Given the description of an element on the screen output the (x, y) to click on. 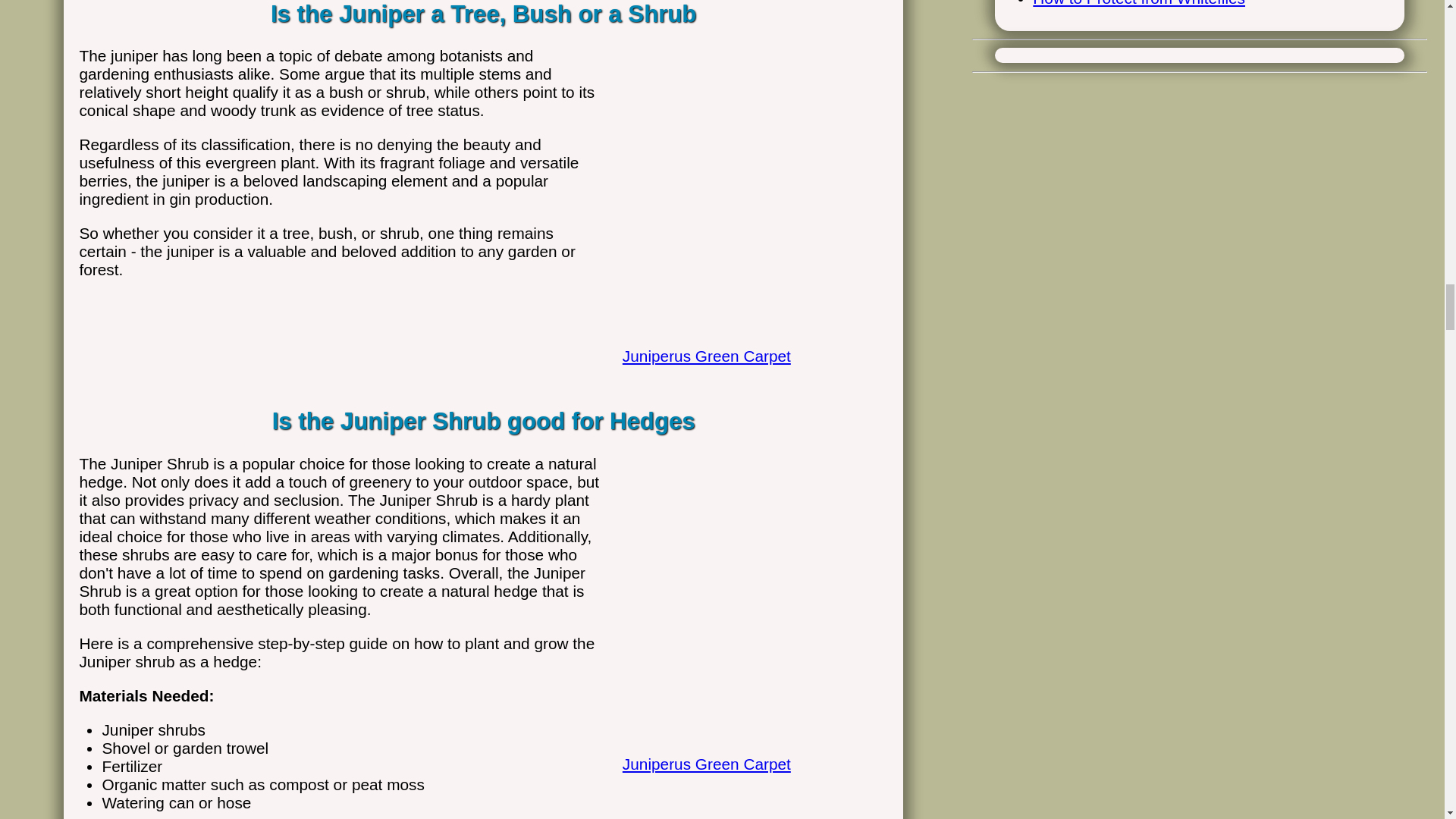
Juniperus Green Carpet (747, 338)
Juniperus Green Carpet (747, 747)
